Given the description of an element on the screen output the (x, y) to click on. 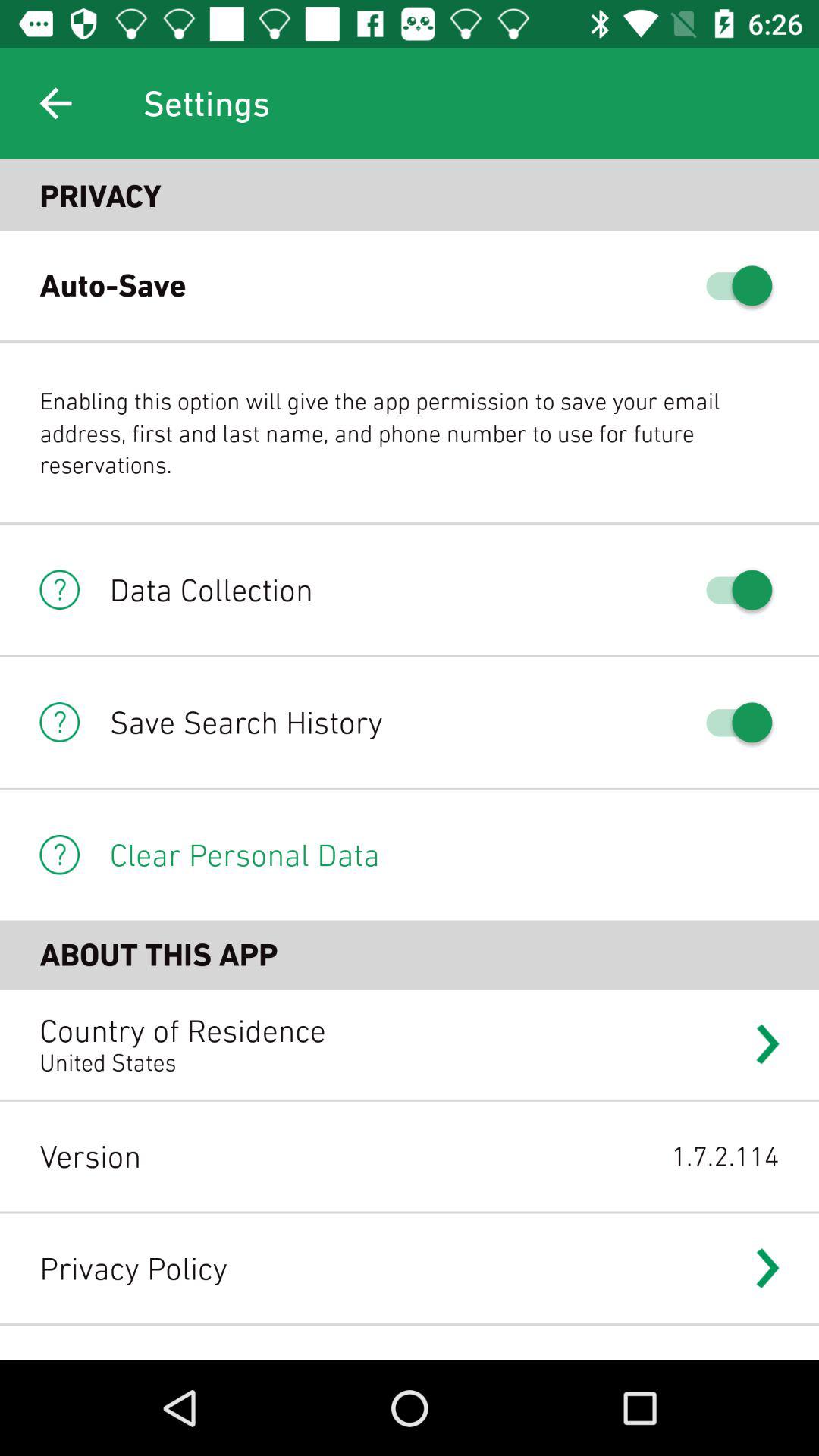
turn on item next to settings icon (55, 103)
